Given the description of an element on the screen output the (x, y) to click on. 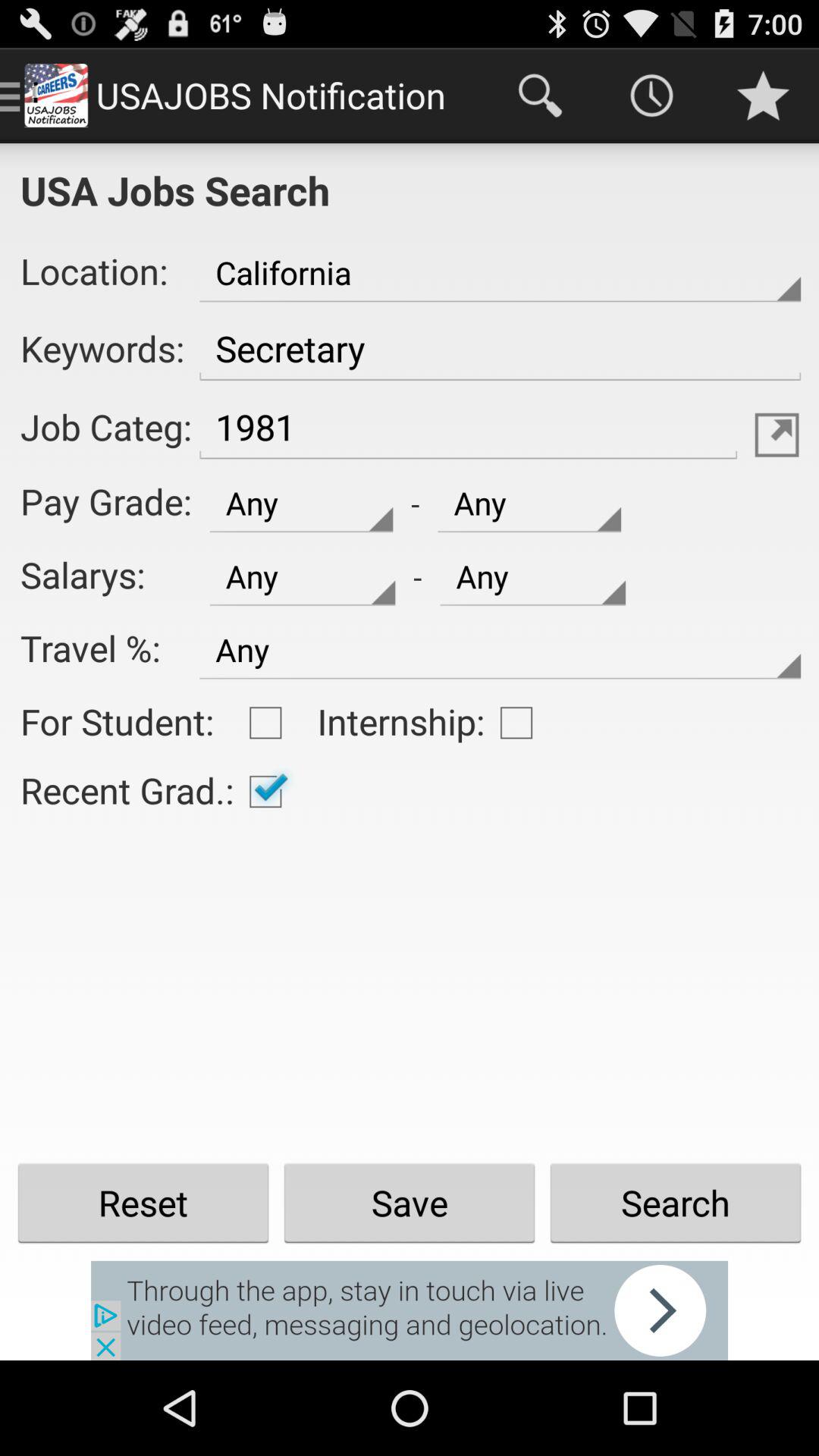
select the intership (516, 722)
